Given the description of an element on the screen output the (x, y) to click on. 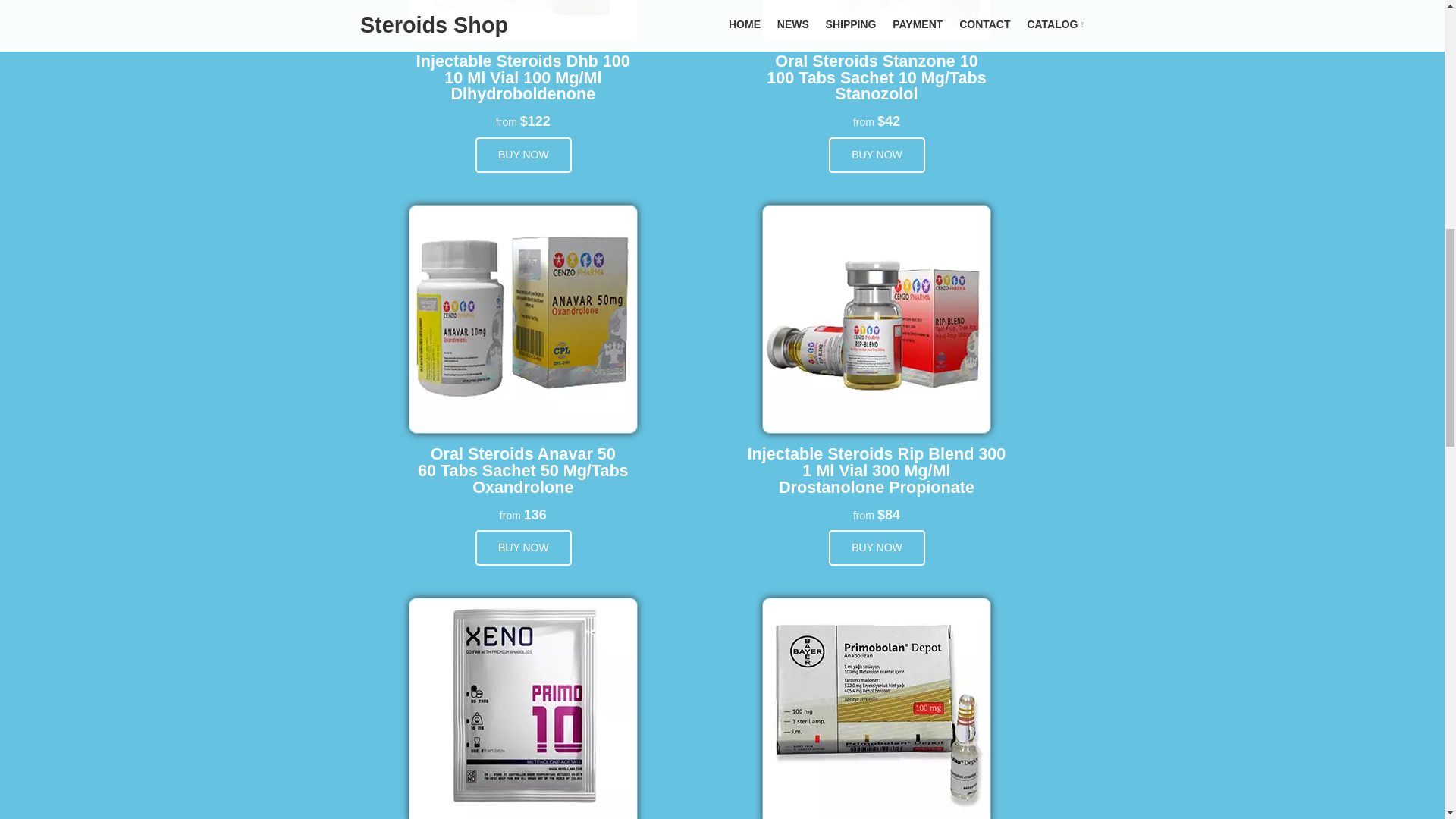
BUY NOW (524, 547)
BUY NOW (876, 547)
BUY NOW (876, 154)
BUY NOW (524, 154)
